Given the description of an element on the screen output the (x, y) to click on. 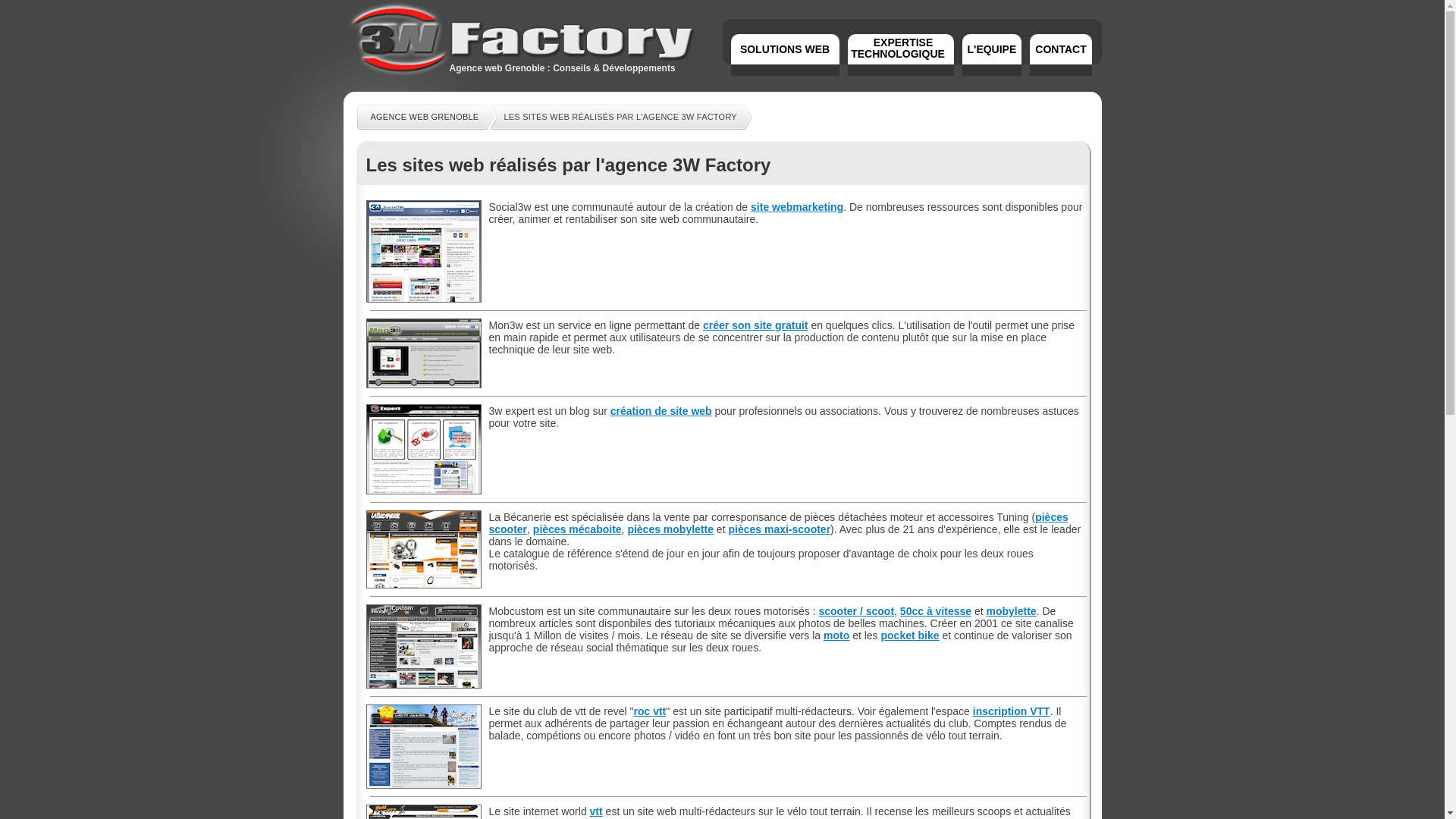
mobylette Element type: text (1011, 611)
AGENCE WEB GRENOBLE Element type: text (423, 116)
moto Element type: text (836, 635)
SOLUTIONS WEB Element type: text (785, 54)
pocket bike Element type: text (910, 635)
site webmarketing Element type: text (796, 206)
vtt Element type: text (595, 811)
Site 3w Factory Element type: hover (520, 76)
inscription VTT Element type: text (1011, 711)
roc vtt Element type: text (649, 711)
EXPERTISE
TECHNOLOGIQUE Element type: text (900, 56)
scooter / scoot Element type: text (856, 611)
L'EQUIPE Element type: text (991, 54)
CONTACT Element type: text (1060, 54)
